Given the description of an element on the screen output the (x, y) to click on. 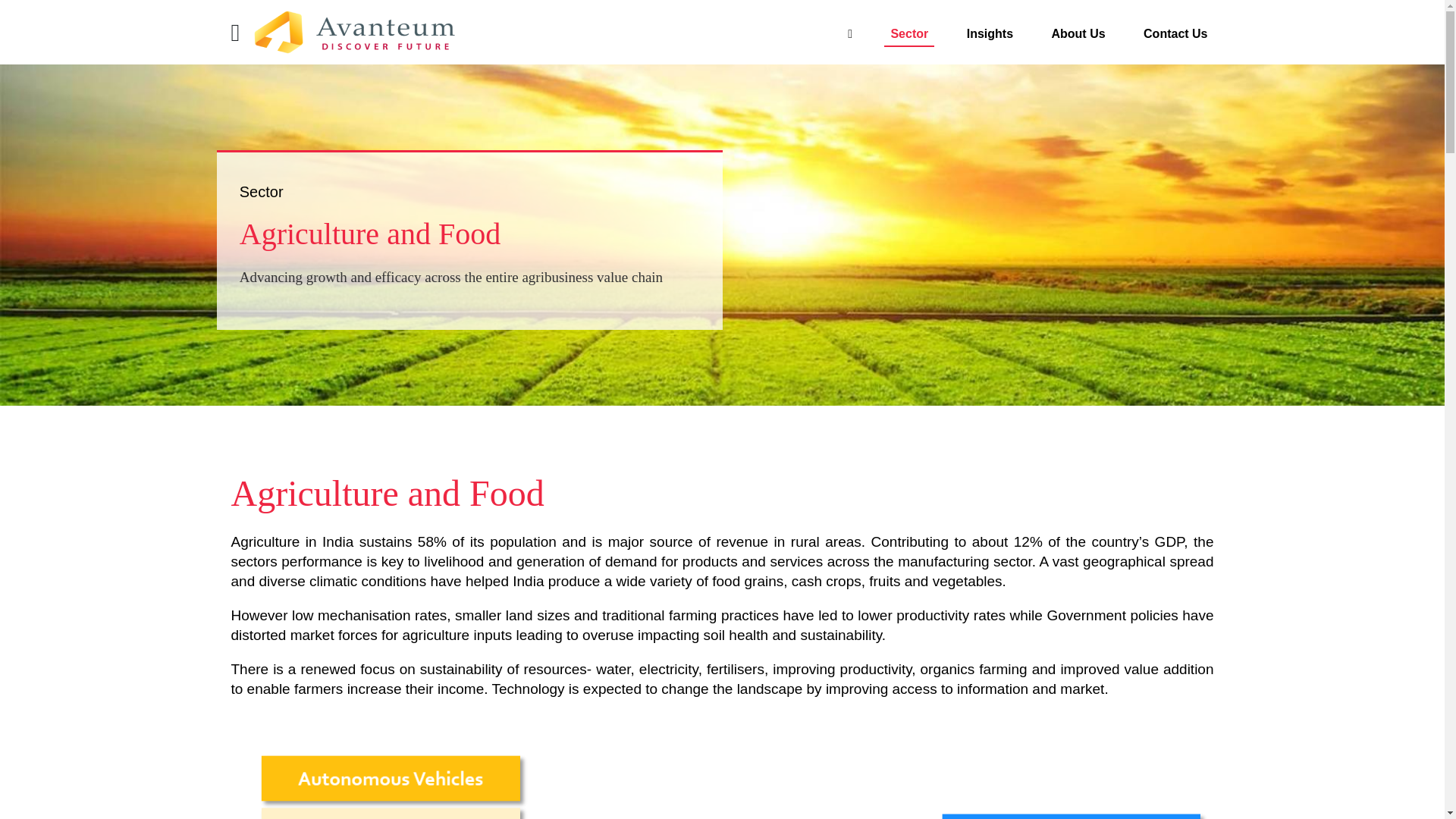
Insights (989, 27)
Contact Us (1174, 27)
About Us (1077, 27)
Sector (722, 31)
